Given the description of an element on the screen output the (x, y) to click on. 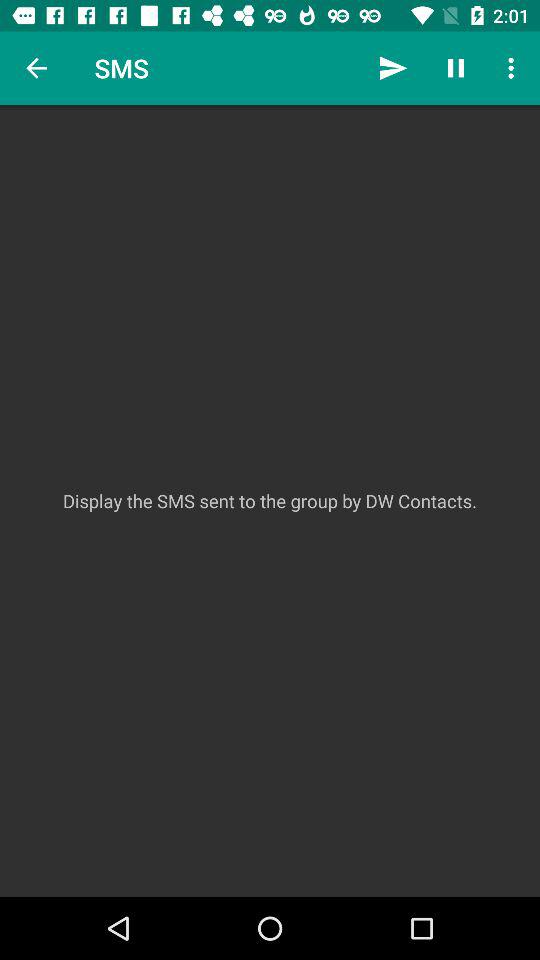
press the item above the display the sms (455, 67)
